Given the description of an element on the screen output the (x, y) to click on. 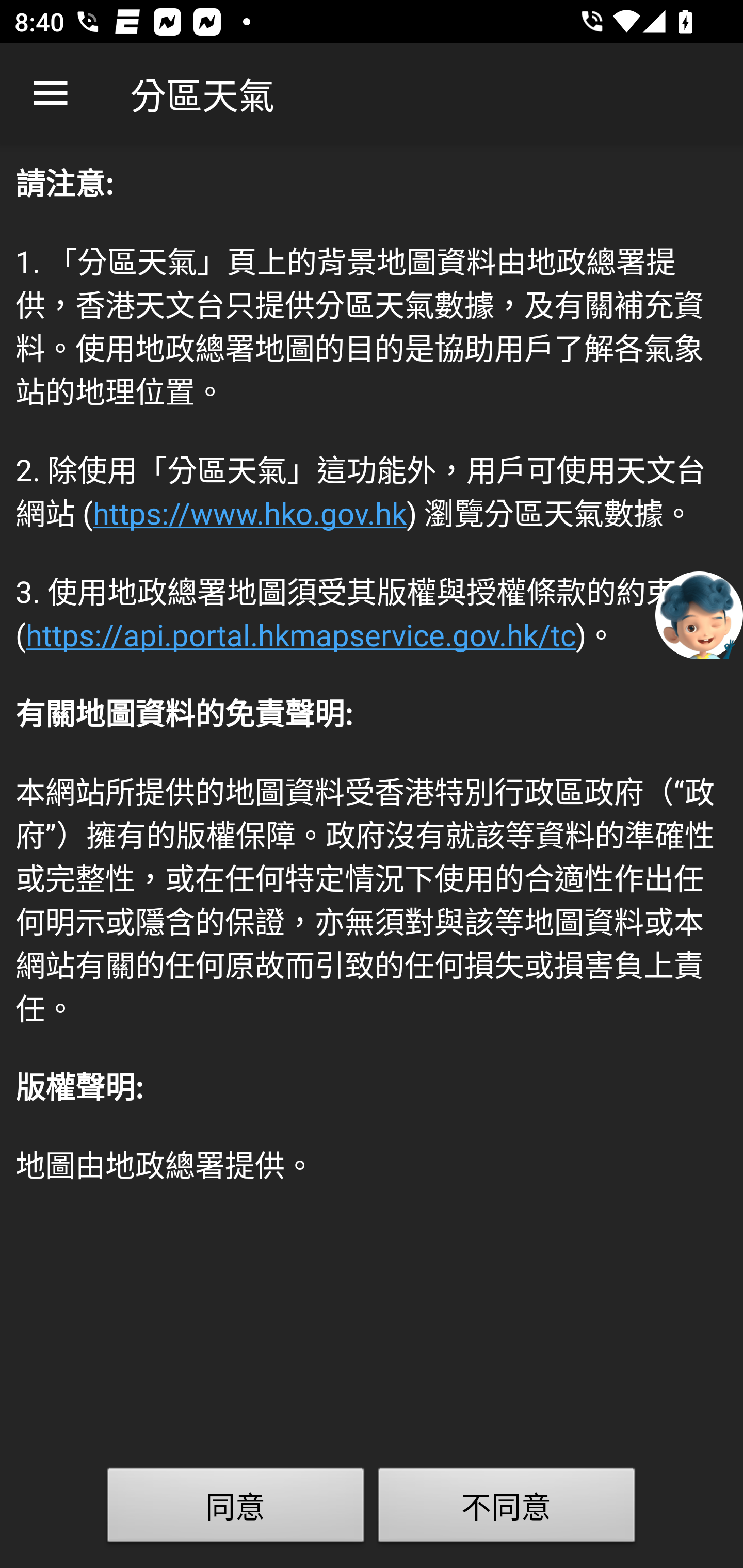
向上瀏覽 (50, 93)
聊天機械人 (699, 614)
同意 (235, 1509)
不同意 (506, 1509)
